Given the description of an element on the screen output the (x, y) to click on. 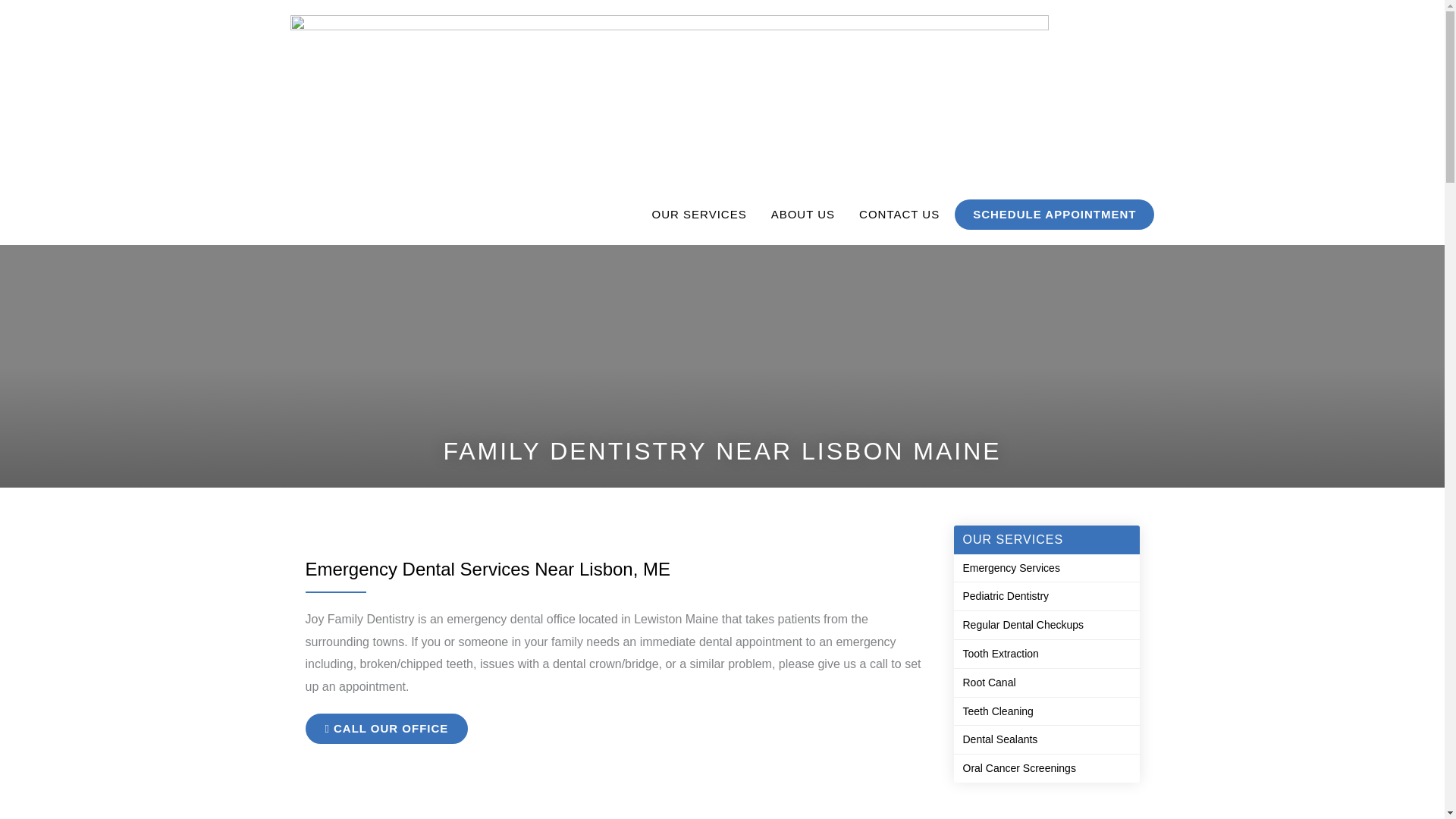
ABOUT US (802, 214)
CONTACT US (899, 214)
OUR SERVICES (699, 214)
SCHEDULE APPOINTMENT (1054, 214)
